Given the description of an element on the screen output the (x, y) to click on. 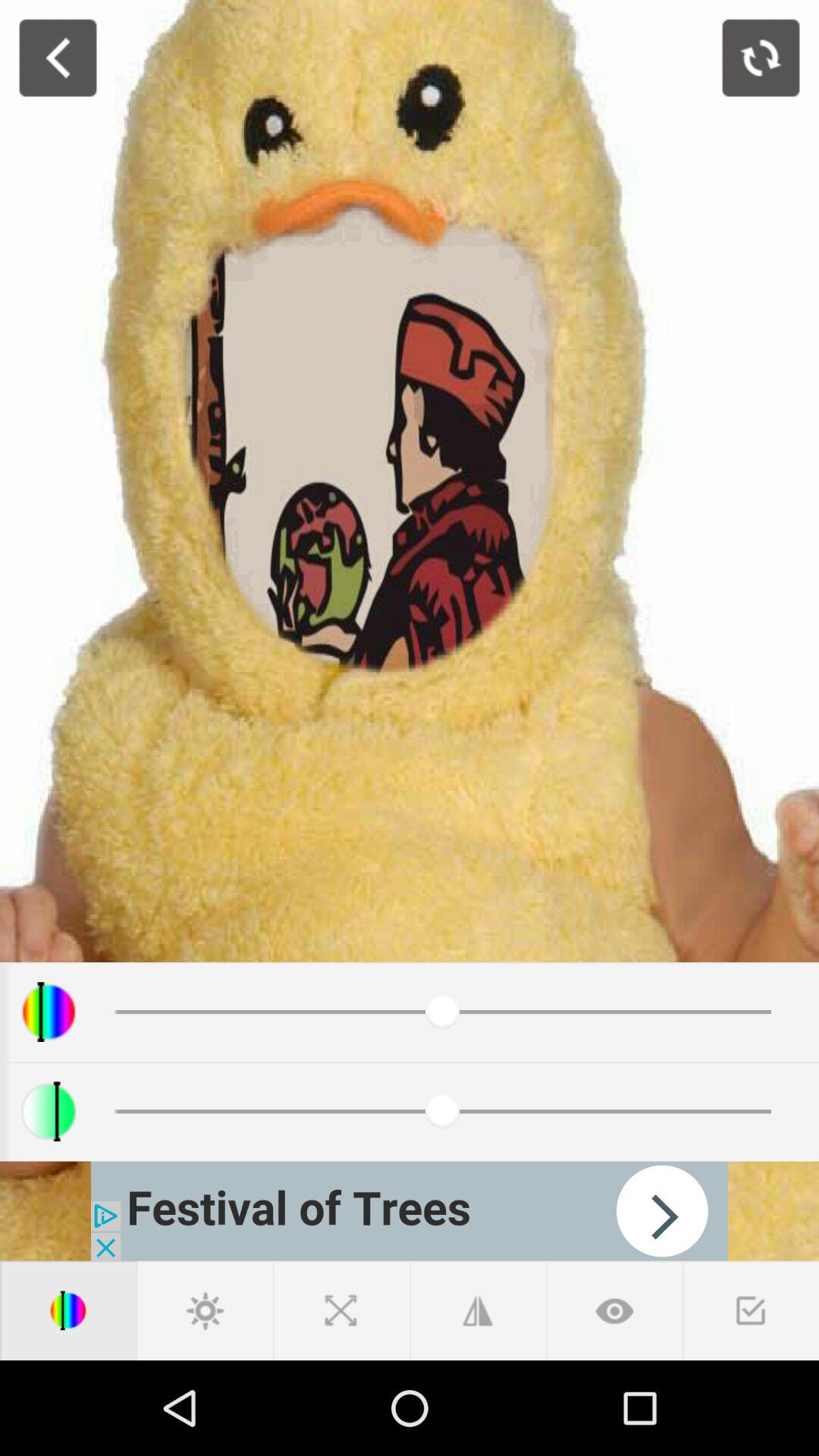
toggle reload (760, 57)
